Given the description of an element on the screen output the (x, y) to click on. 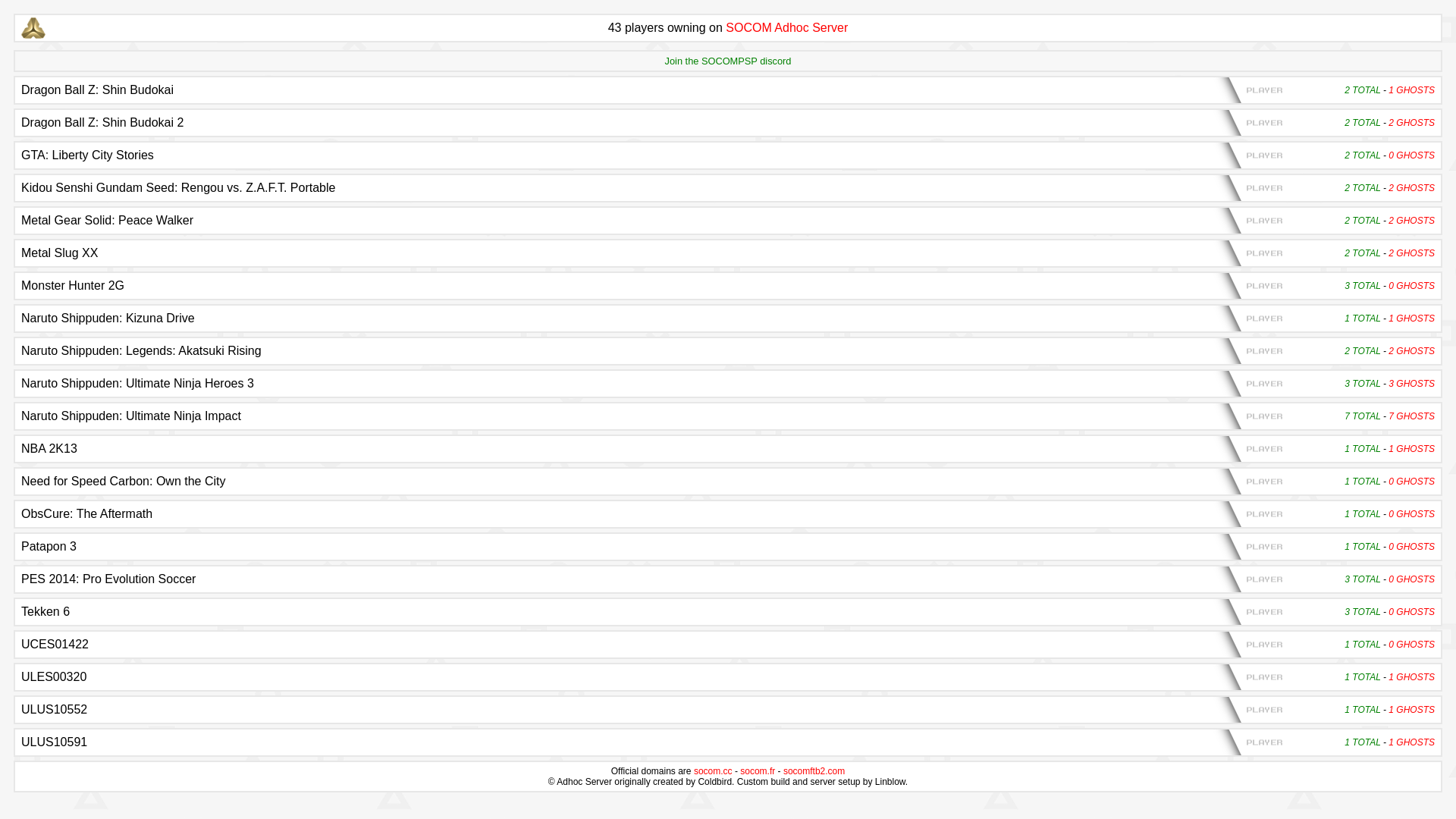
socomftb2.com Element type: text (813, 770)
socom.cc Element type: text (712, 770)
Join the SOCOMPSP discord Element type: text (728, 60)
SOCOM Adhoc Server Element type: text (786, 27)
socom.fr Element type: text (757, 770)
